Given the description of an element on the screen output the (x, y) to click on. 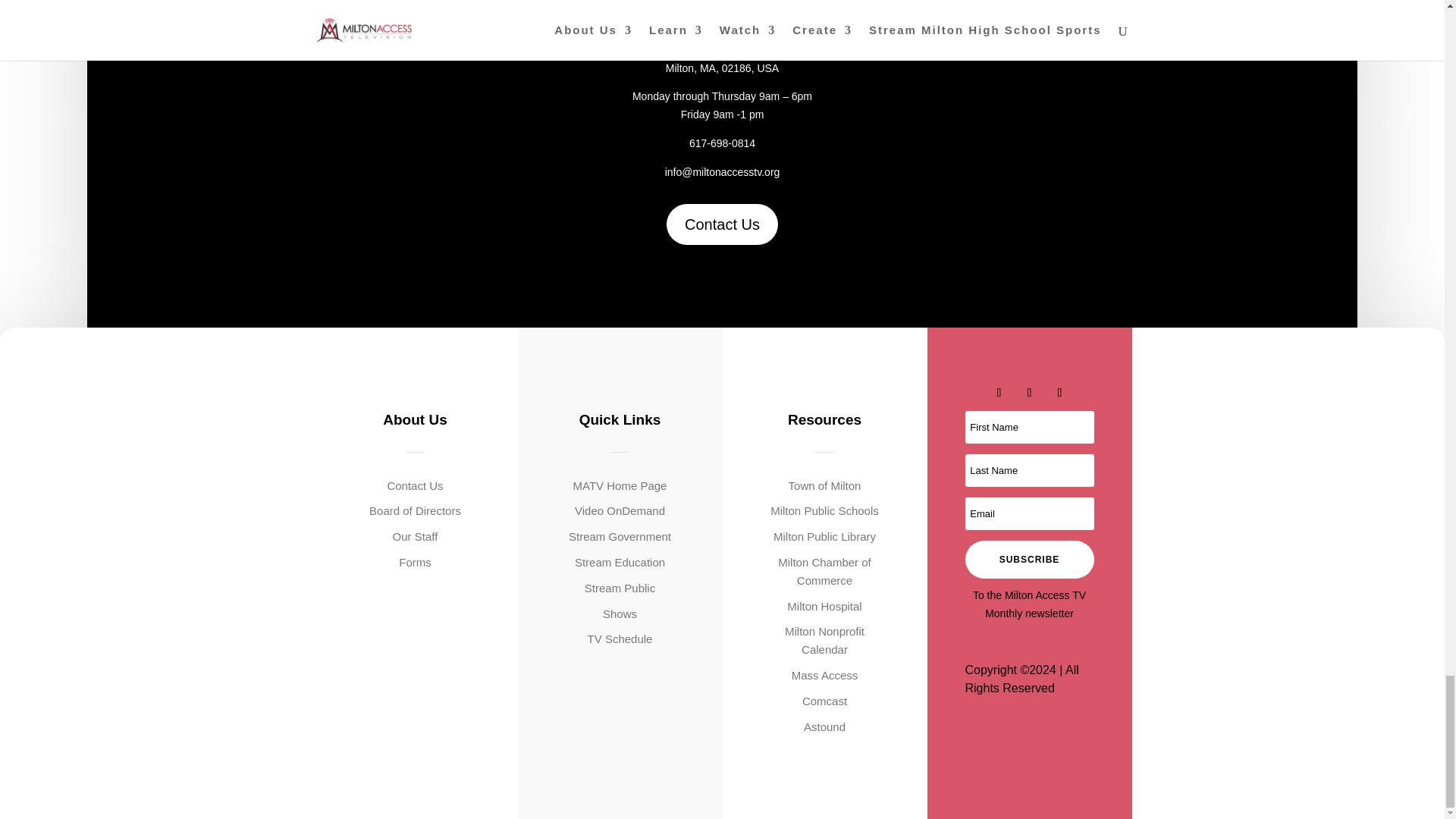
Follow on Instagram (1059, 392)
Follow on X (1029, 392)
Follow on Facebook (999, 392)
